Given the description of an element on the screen output the (x, y) to click on. 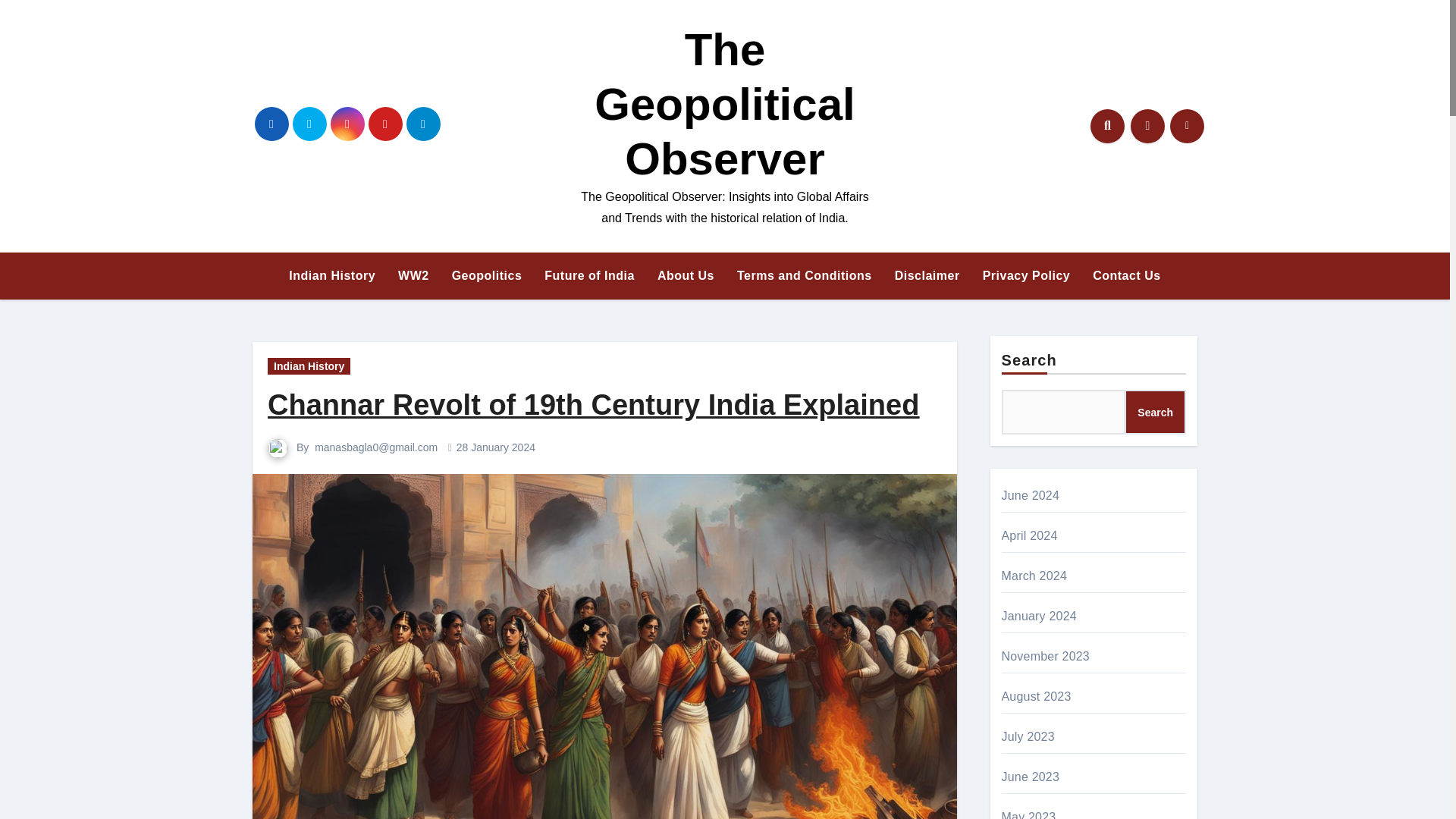
Permalink to: Channar Revolt of 19th Century India Explained (592, 404)
Indian History (332, 275)
Future of India (589, 275)
Privacy Policy (1026, 275)
About Us (685, 275)
Terms and Conditions (804, 275)
28 January 2024 (496, 447)
The Geopolitical Observer (724, 104)
Geopolitics (487, 275)
Geopolitics (487, 275)
